Given the description of an element on the screen output the (x, y) to click on. 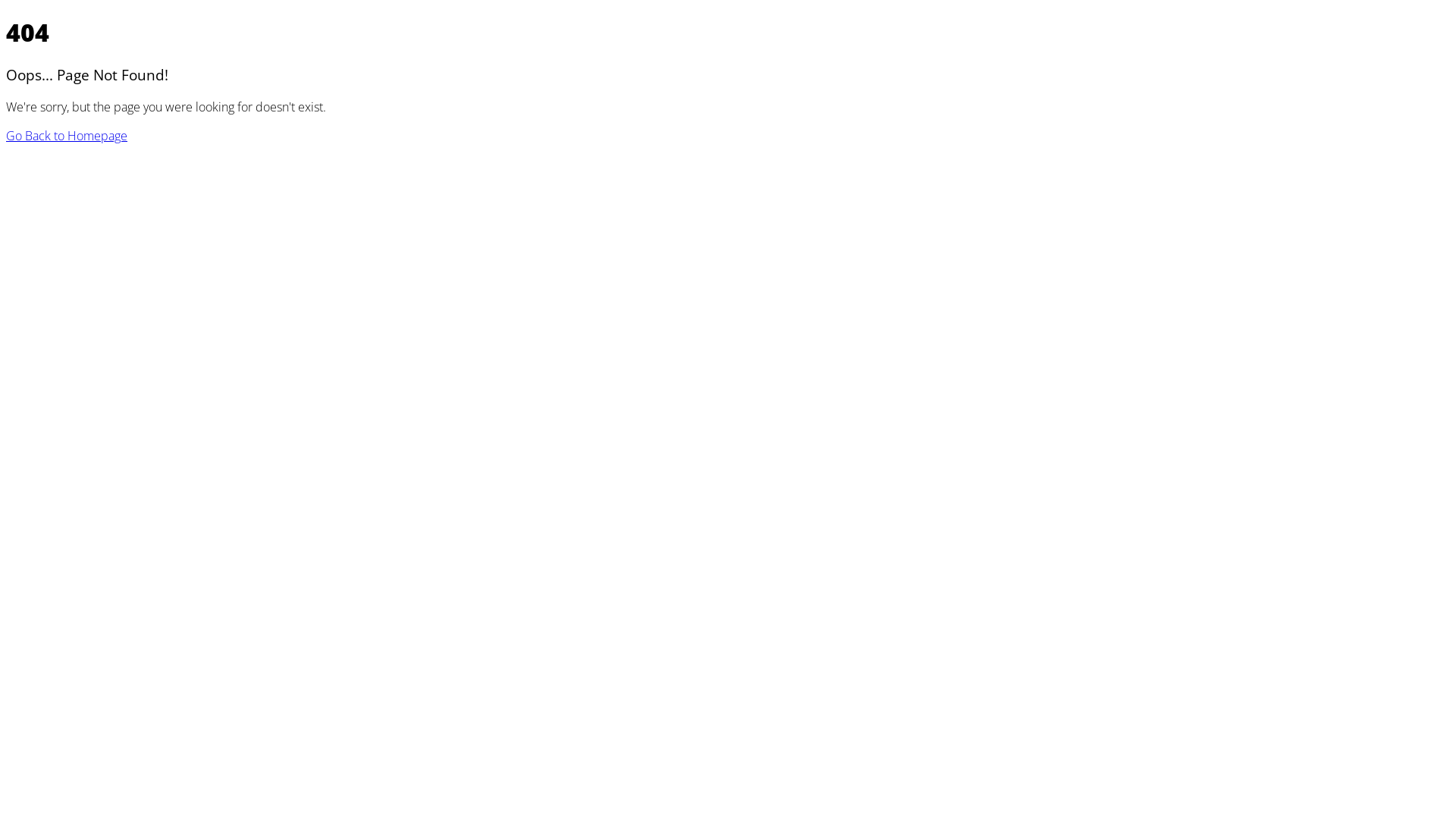
Go Back to Homepage Element type: text (66, 135)
